Given the description of an element on the screen output the (x, y) to click on. 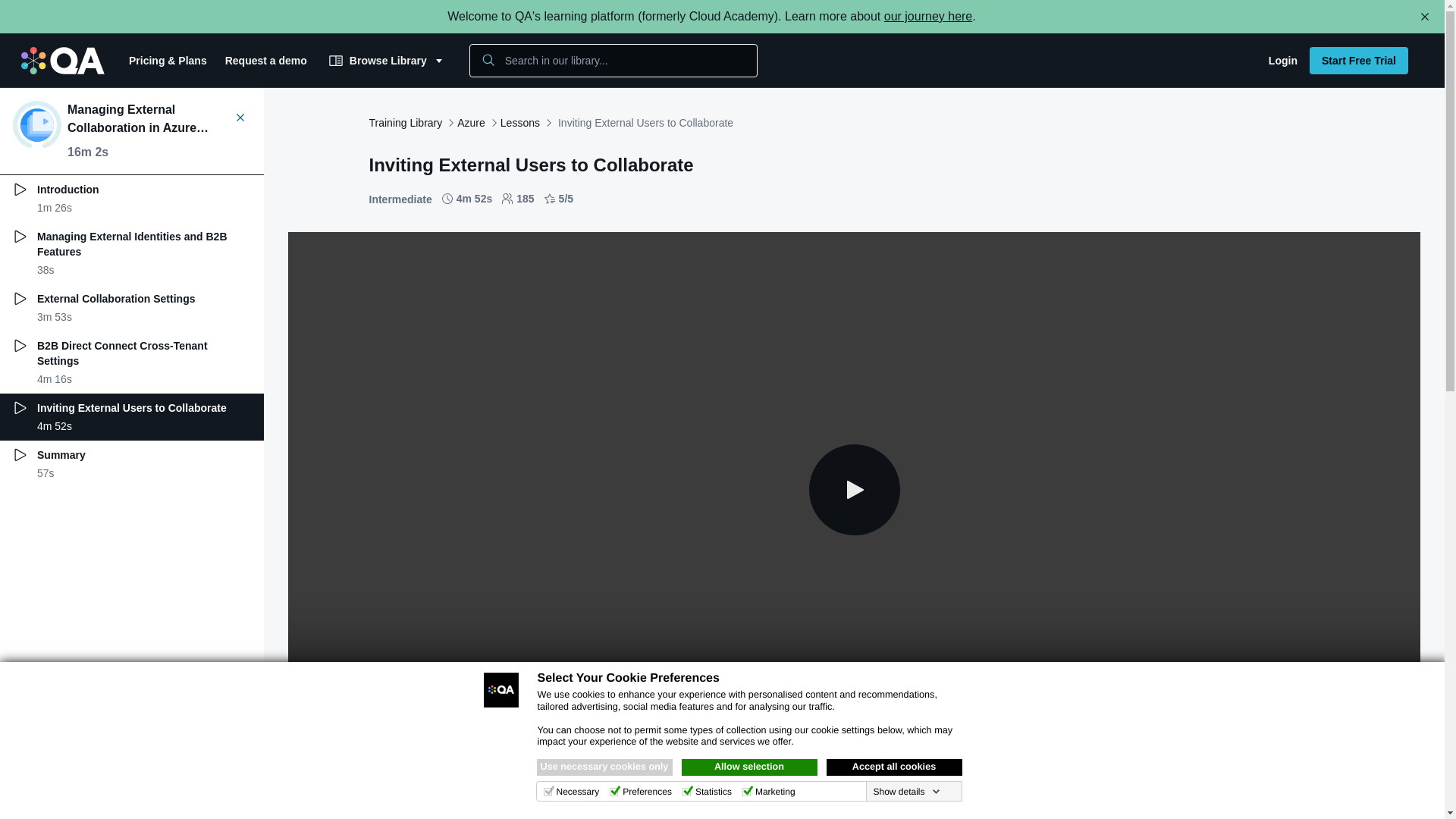
Show details (905, 791)
Allow selection (748, 767)
Accept all cookies (894, 767)
Use necessary cookies only (604, 767)
